Given the description of an element on the screen output the (x, y) to click on. 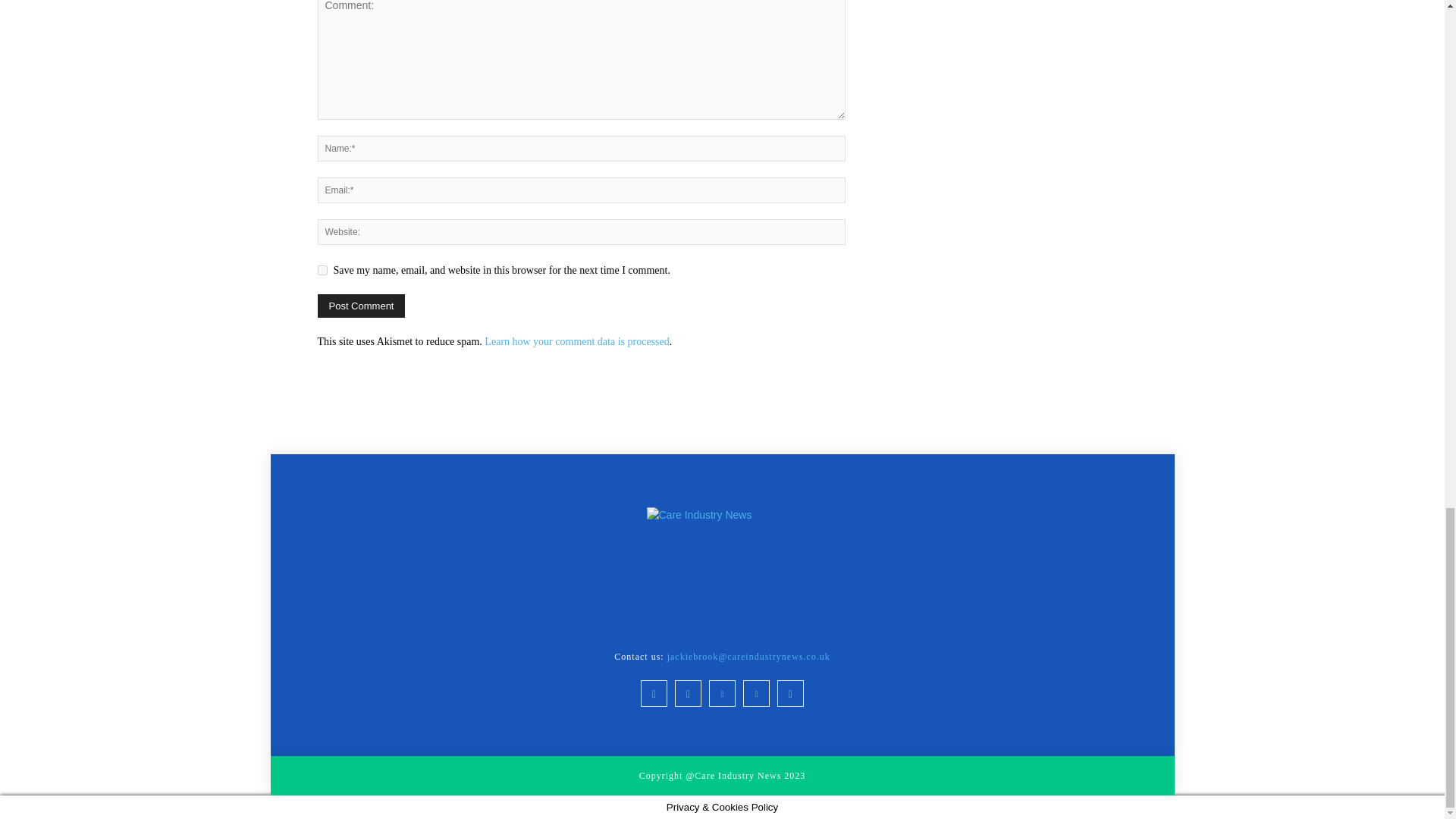
yes (321, 270)
Post Comment (360, 305)
